Given the description of an element on the screen output the (x, y) to click on. 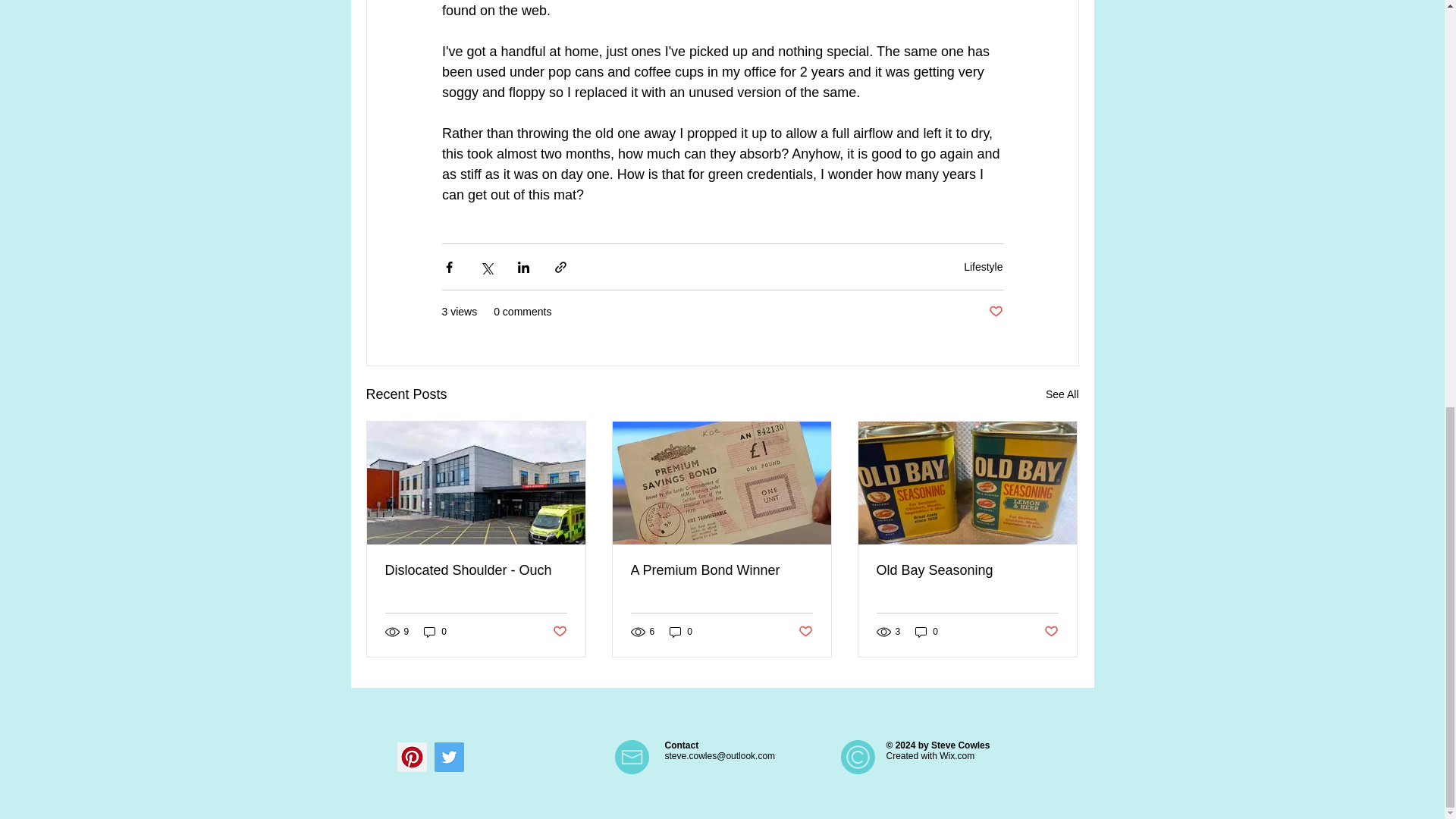
0 (926, 631)
A Premium Bond Winner (721, 570)
See All (1061, 394)
0 (681, 631)
Post not marked as liked (995, 311)
Dislocated Shoulder - Ouch (476, 570)
0 (435, 631)
Old Bay Seasoning (967, 570)
Post not marked as liked (1050, 631)
Wix.com (956, 756)
